Given the description of an element on the screen output the (x, y) to click on. 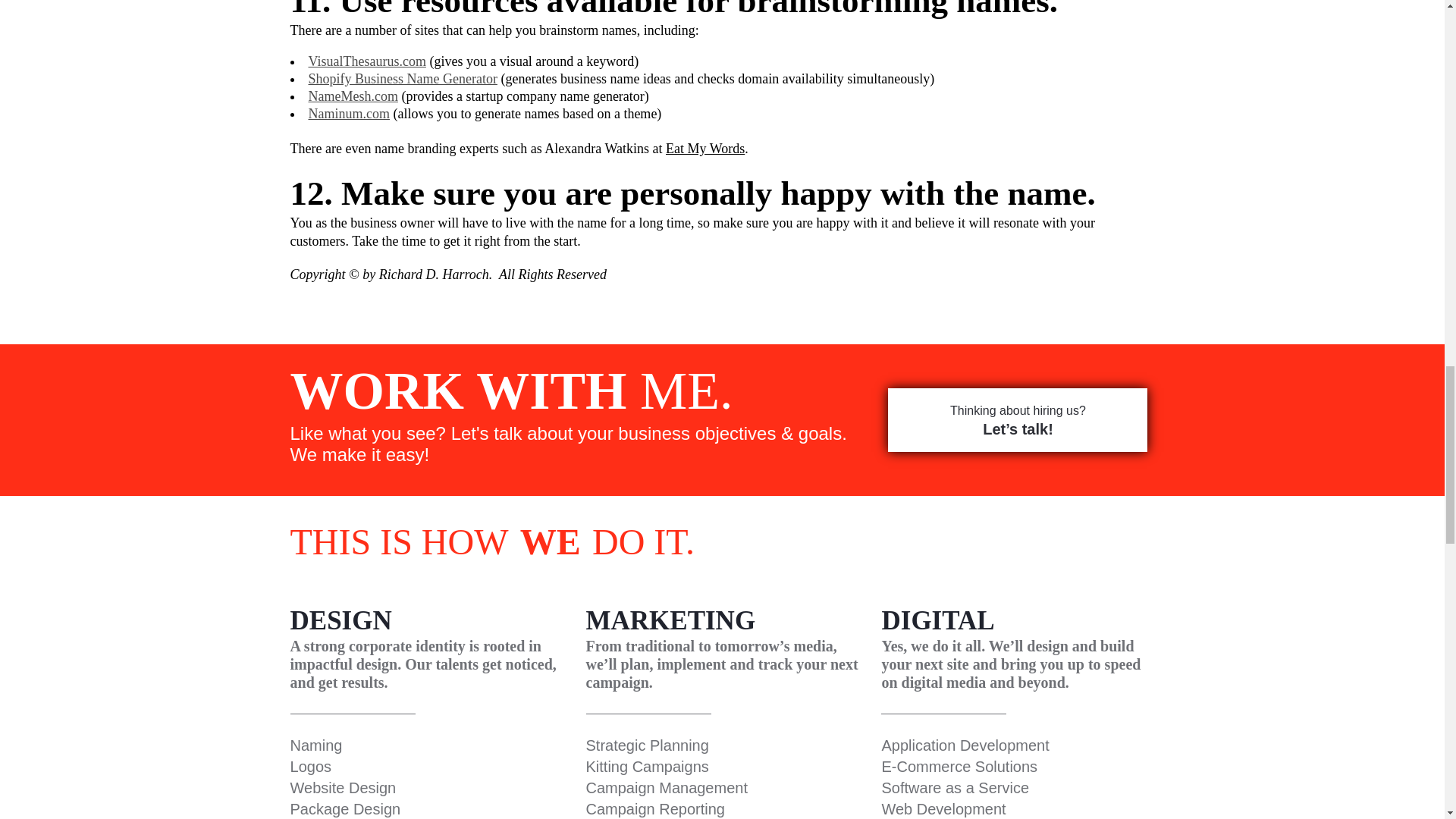
Naminum.com (347, 113)
Campaign Management (665, 787)
Strategic Planning (646, 745)
Kitting Campaigns (646, 766)
Eat My Words (704, 148)
VisualThesaurus.com (366, 61)
Logos (310, 766)
Shopify Business Name Generator (401, 78)
Package Design (345, 808)
Campaign Reporting (654, 808)
Naming (315, 745)
Website Design (342, 787)
NameMesh.com (352, 96)
